Given the description of an element on the screen output the (x, y) to click on. 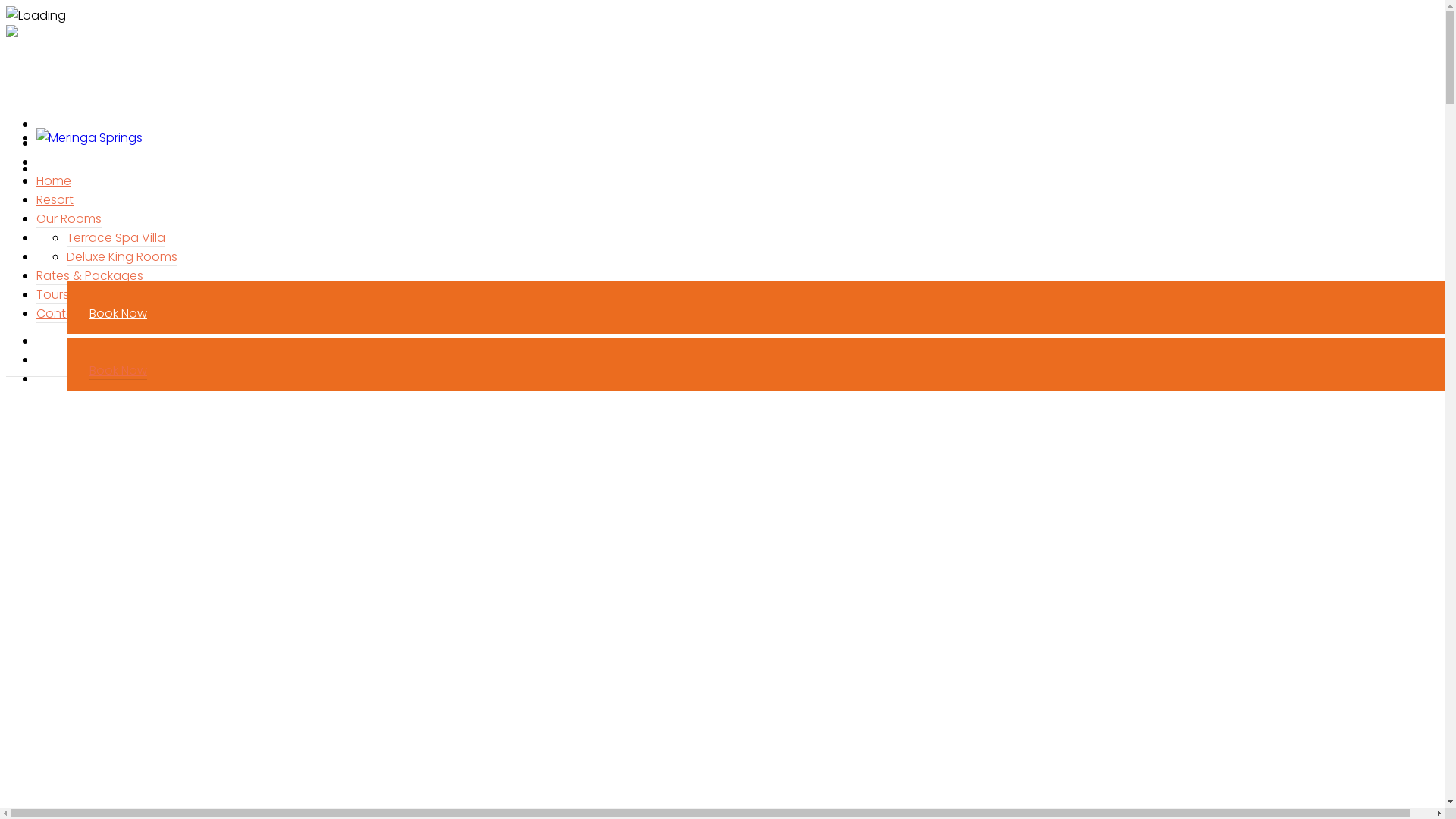
Tours & Activities Element type: text (100, 237)
Rates & Packages Element type: text (89, 275)
Resort Element type: text (69, 142)
Home Element type: text (68, 123)
Rates & Packages Element type: text (104, 218)
Deluxe King Rooms Element type: text (121, 256)
Home Element type: text (53, 181)
Contact Element type: text (61, 313)
Our Rooms Element type: text (68, 219)
Book Now Element type: text (118, 313)
Contact Element type: text (76, 256)
Tours & Activities Element type: text (85, 294)
Deluxe King Rooms Element type: text (136, 199)
Our Rooms Element type: text (83, 161)
Terrace Spa Villa Element type: text (130, 180)
Book Now Element type: text (118, 370)
Terrace Spa Villa Element type: text (115, 238)
Resort Element type: text (54, 200)
